Given the description of an element on the screen output the (x, y) to click on. 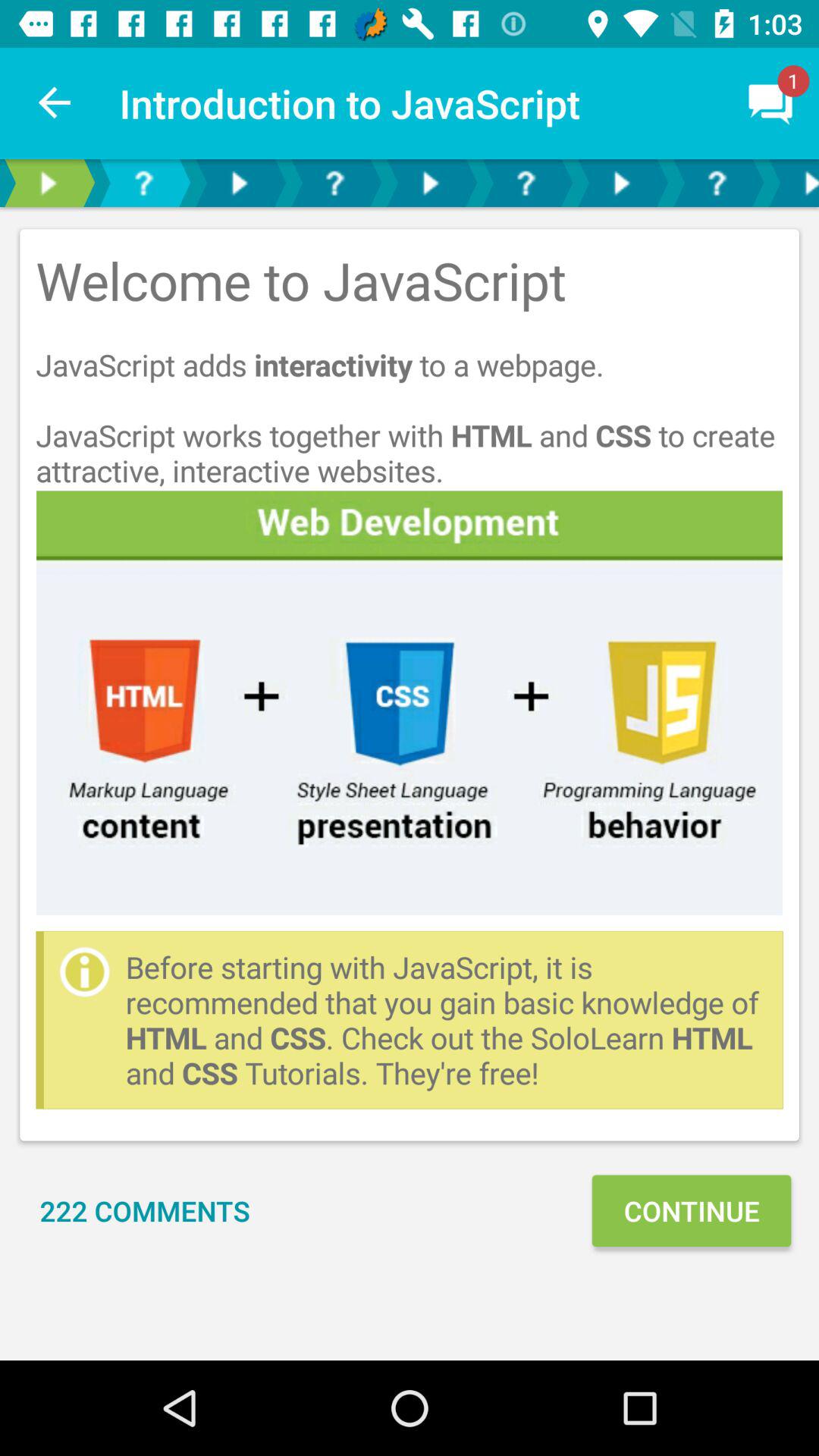
turn off icon next to 222 comments item (691, 1210)
